Given the description of an element on the screen output the (x, y) to click on. 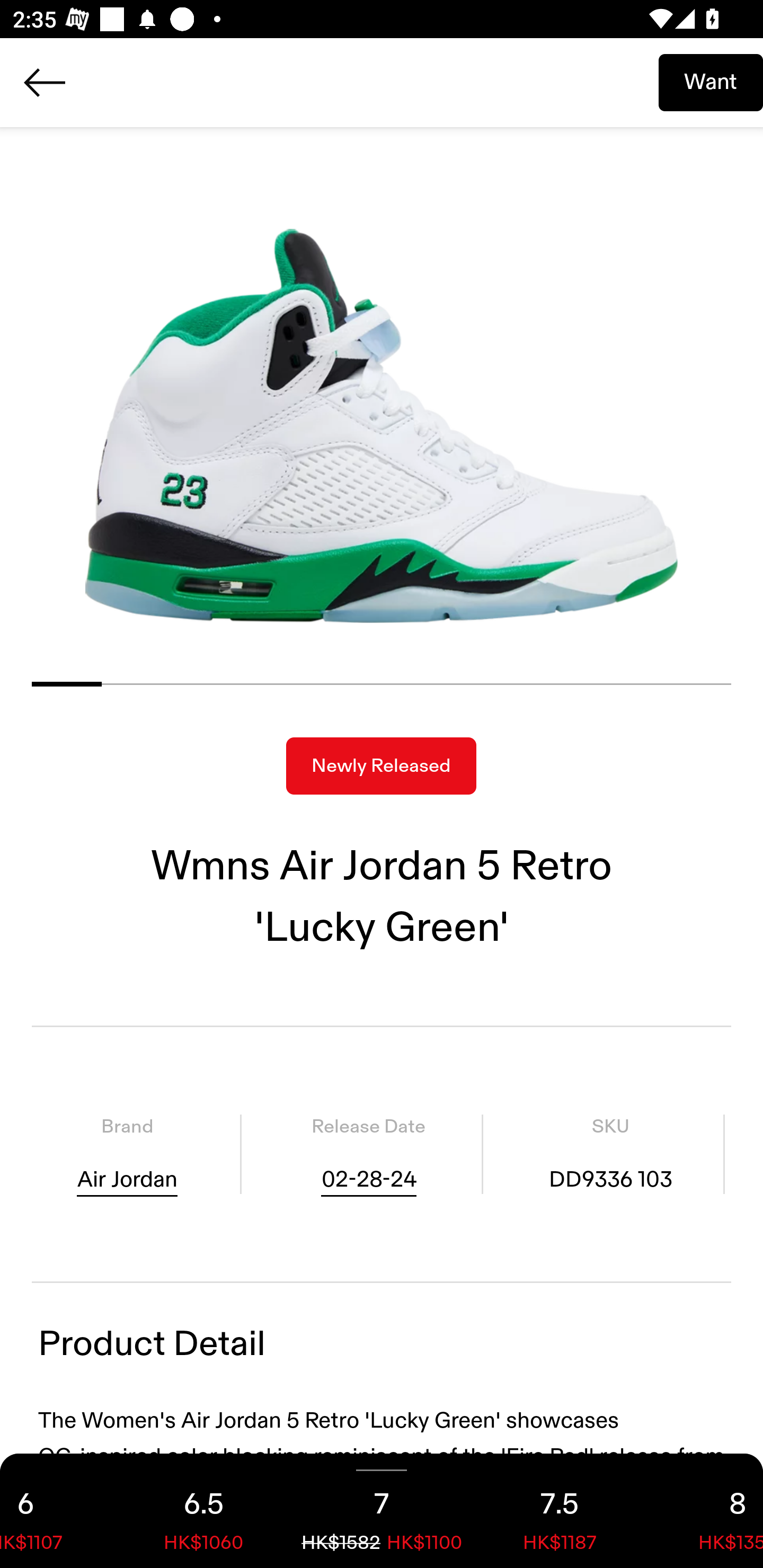
Want (710, 82)
Newly Released (381, 765)
Brand Air Jordan (126, 1153)
Release Date 02-28-24 (368, 1153)
SKU DD9336 103 (609, 1153)
6 HK$1107 (57, 1510)
6.5 HK$1060 (203, 1510)
7 HK$1582 HK$1100 (381, 1510)
7.5 HK$1187 (559, 1510)
8 HK$1353 (705, 1510)
